Given the description of an element on the screen output the (x, y) to click on. 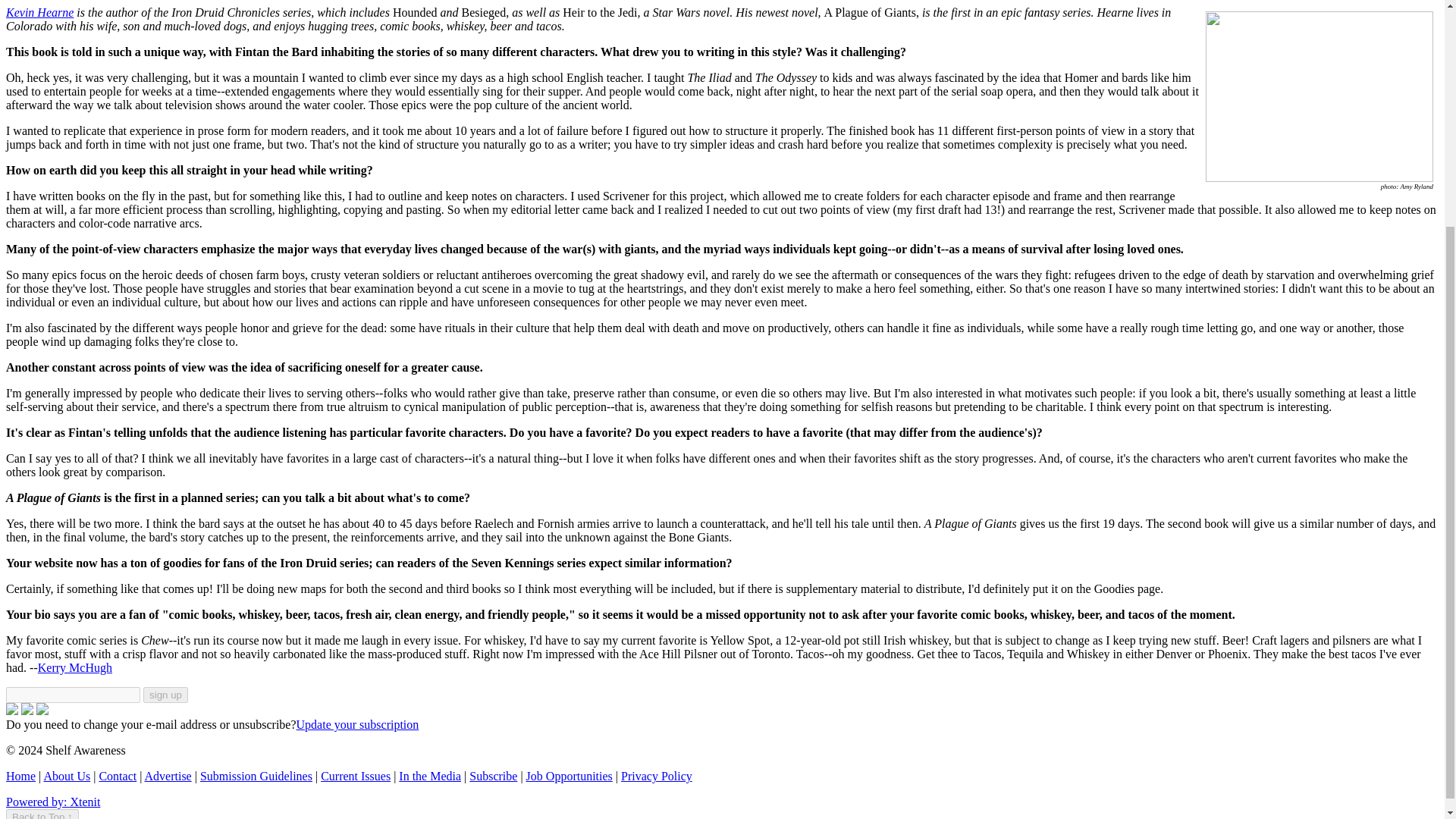
Advertise (168, 775)
Privacy Policy (657, 775)
Powered by: Xtenit (52, 801)
Job Opportunities (568, 775)
Update your subscription (358, 724)
Current Issues (355, 775)
sign up (164, 694)
Kerry McHugh (74, 667)
Submission Guidelines (256, 775)
sign up (164, 694)
